Given the description of an element on the screen output the (x, y) to click on. 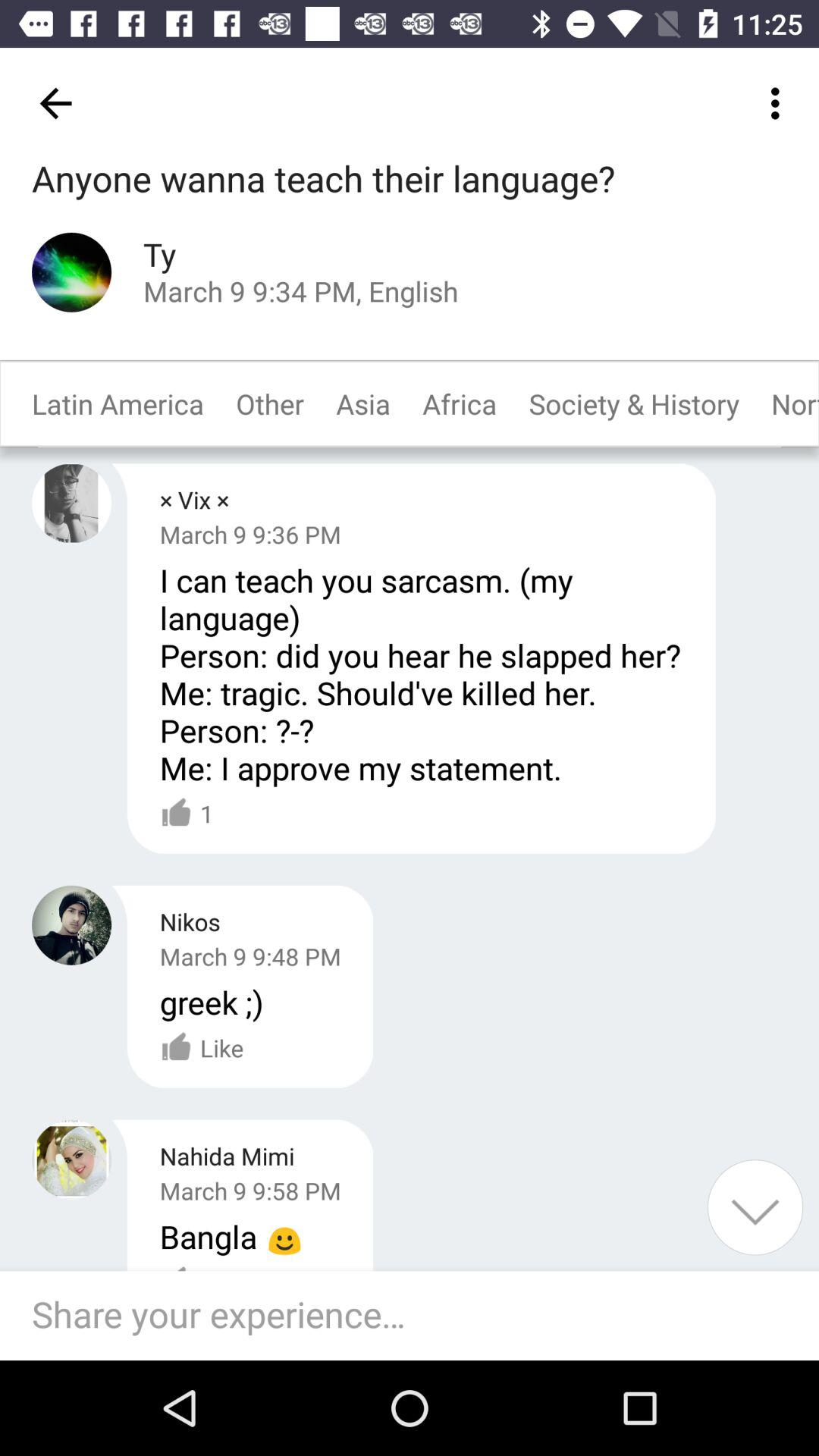
share your experience (417, 1315)
